Given the description of an element on the screen output the (x, y) to click on. 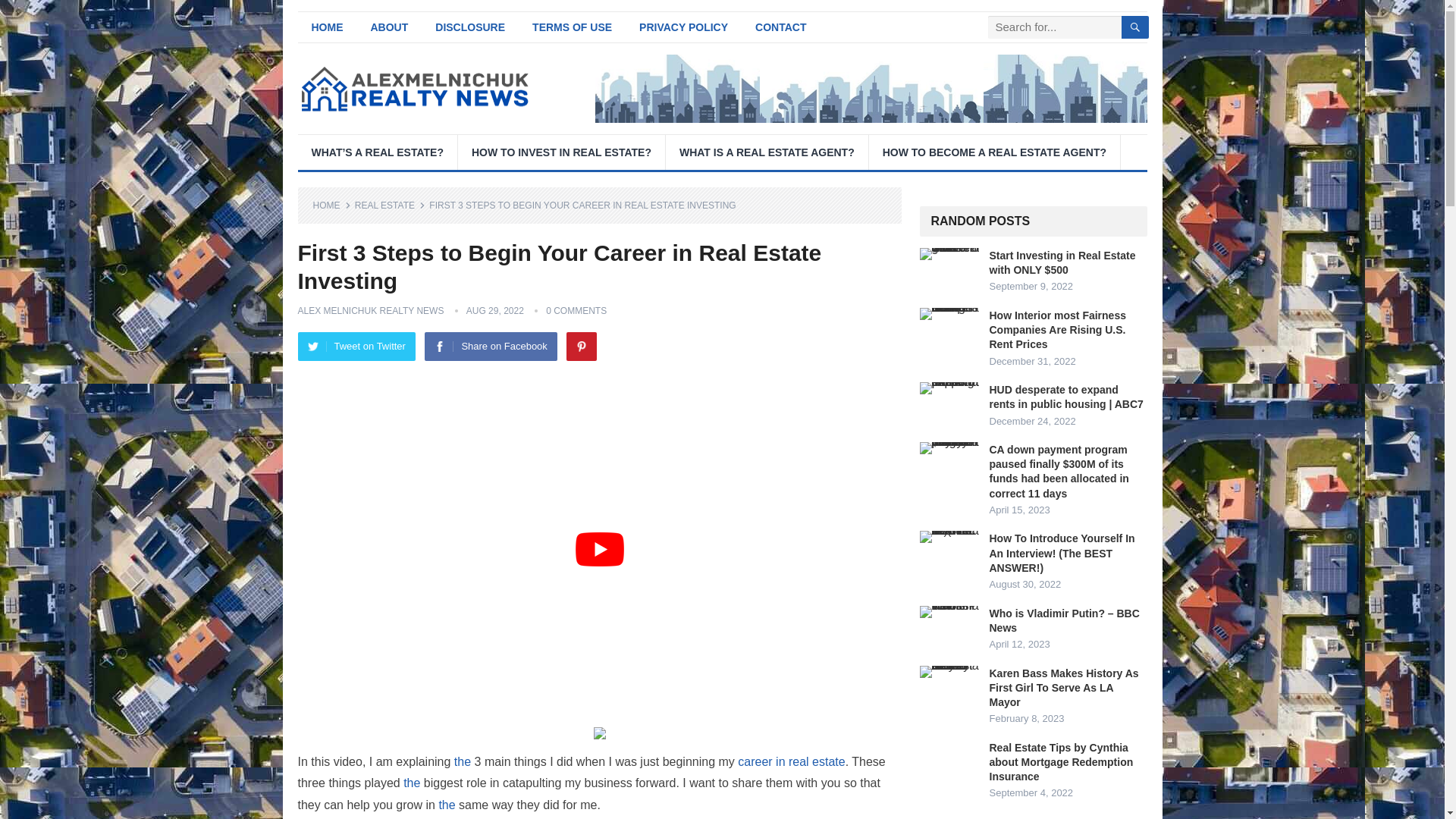
HOW TO INVEST IN REAL ESTATE? (561, 152)
ALEX MELNICHUK REALTY NEWS (370, 310)
career in real estate (791, 761)
0 COMMENTS (576, 310)
the (446, 804)
HOME (331, 204)
Posts by Alex Melnichuk Realty News (370, 310)
HOME (326, 27)
CONTACT (780, 27)
the (462, 761)
HOW TO BECOME A REAL ESTATE AGENT? (994, 152)
TERMS OF USE (572, 27)
DISCLOSURE (470, 27)
PRIVACY POLICY (683, 27)
WHAT IS A REAL ESTATE AGENT? (766, 152)
